Given the description of an element on the screen output the (x, y) to click on. 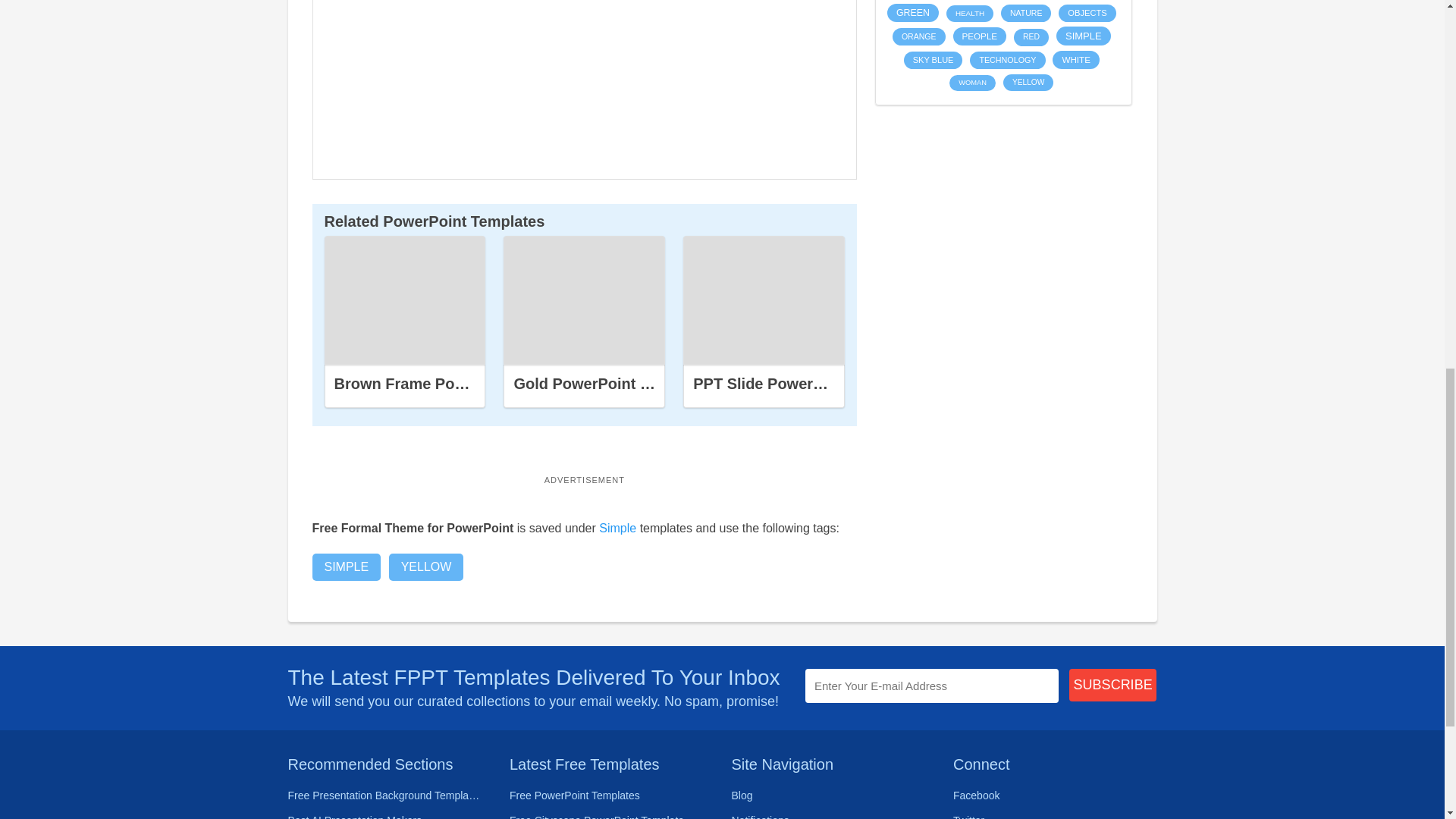
Gold PowerPoint Template (608, 383)
Brown Frame PowerPoint (425, 383)
Gold PowerPoint Template (583, 300)
Brown Frame PowerPoint (405, 300)
PPT Slide PowerPoint (763, 300)
Subscribe (1112, 685)
PPT Slide PowerPoint (764, 300)
SIMPLE (347, 566)
Gold PowerPoint Template (584, 300)
YELLOW (426, 566)
Brown Frame PowerPoint (404, 300)
PPT Slide PowerPoint (771, 383)
Simple (617, 527)
